Given the description of an element on the screen output the (x, y) to click on. 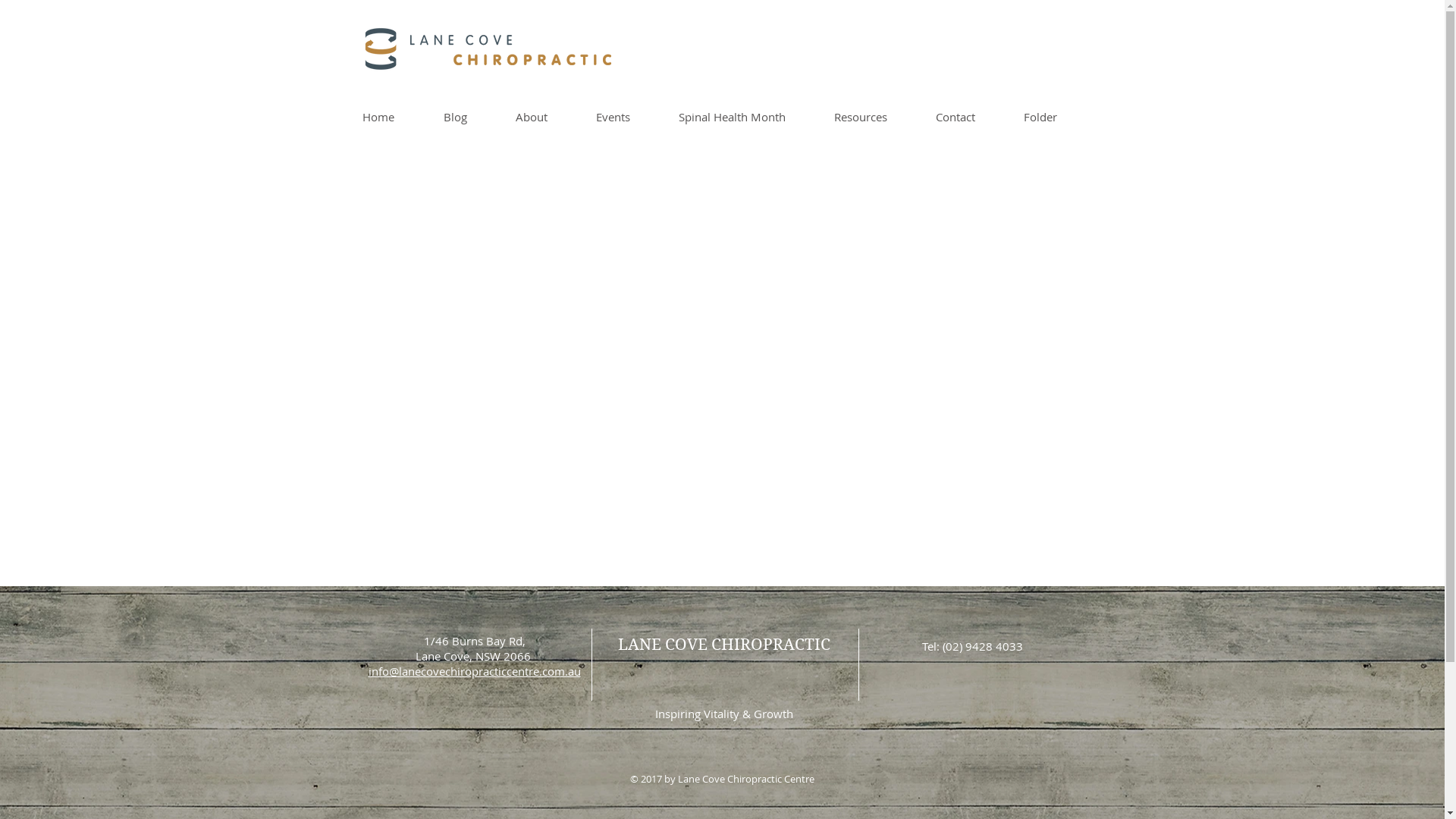
Contact Element type: text (967, 116)
Lane Cove Chiropractic Logo.png Element type: hover (379, 49)
Blog Element type: text (468, 116)
Spinal Health Month Element type: text (744, 116)
Resources Element type: text (872, 116)
info@lanecovechiropracticcentre.com.au Element type: text (474, 670)
About Element type: text (543, 116)
LANE COVE CHIROPRACTIC Element type: text (723, 644)
Home Element type: text (390, 116)
Events Element type: text (624, 116)
